Given the description of an element on the screen output the (x, y) to click on. 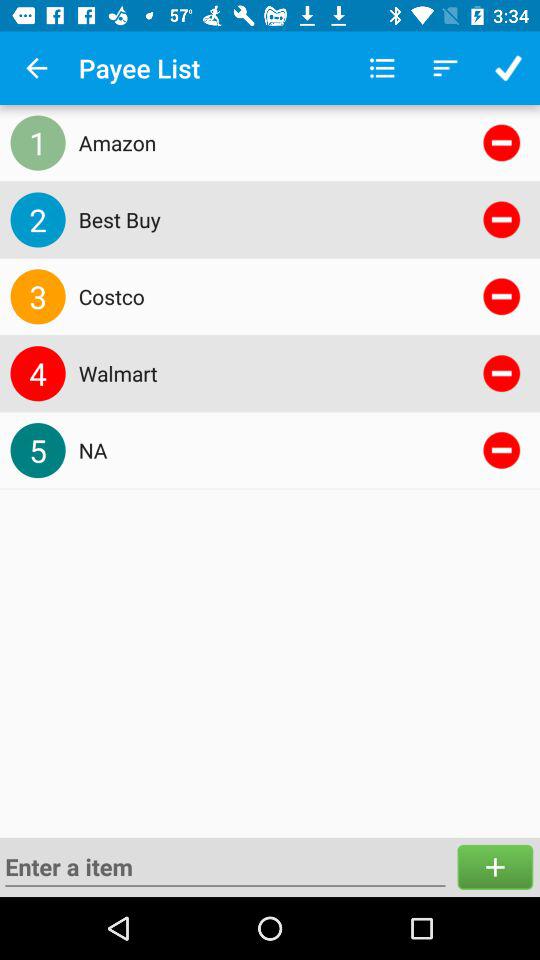
delete (501, 219)
